Given the description of an element on the screen output the (x, y) to click on. 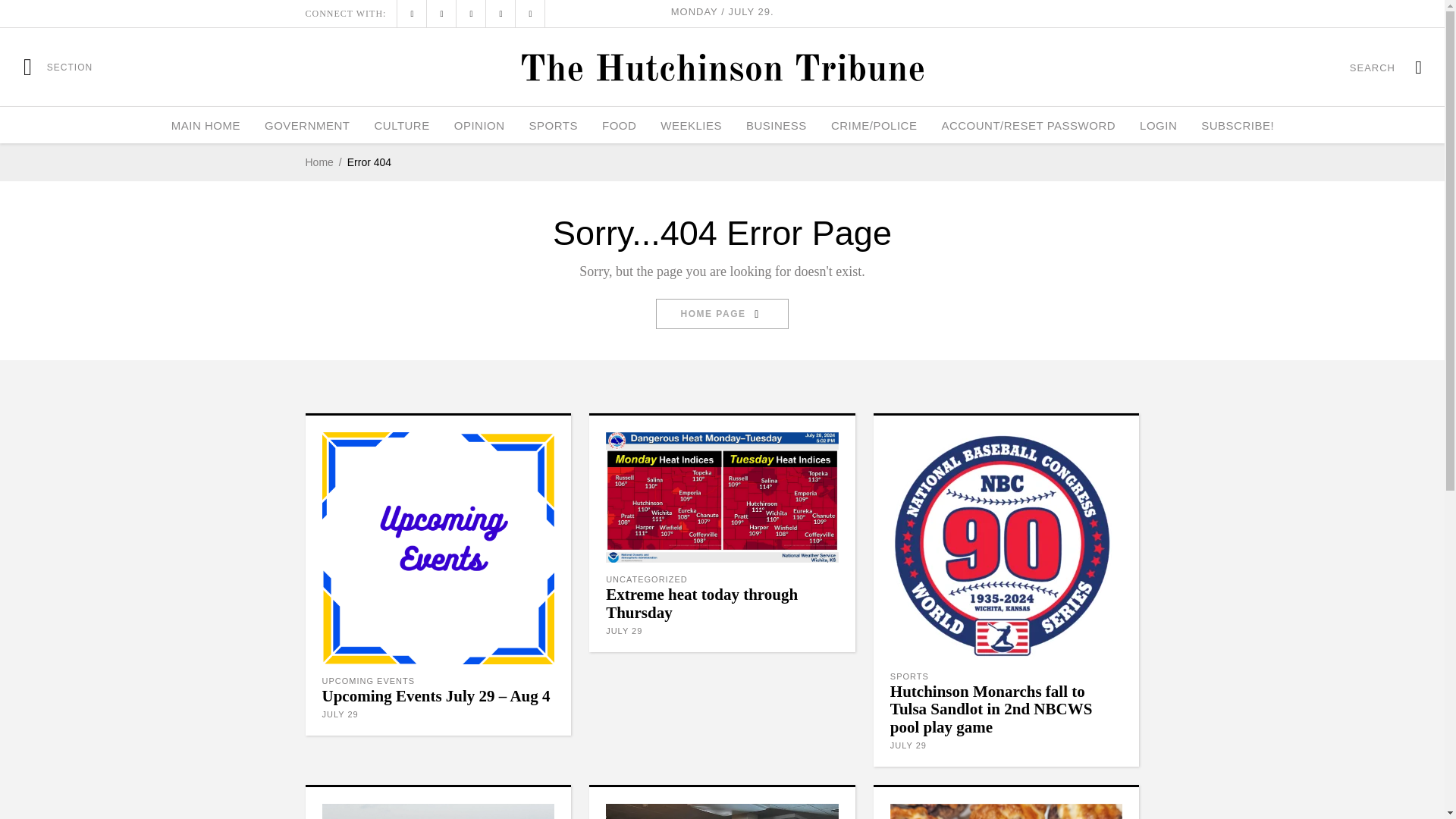
SPORTS (552, 125)
OPINION (479, 125)
LOGIN (1157, 125)
SUBSCRIBE! (1237, 125)
GOVERNMENT (306, 125)
SECTION (58, 67)
WEEKLIES (690, 125)
BUSINESS (775, 125)
MAIN HOME (204, 125)
FOOD (618, 125)
CULTURE (401, 125)
